Given the description of an element on the screen output the (x, y) to click on. 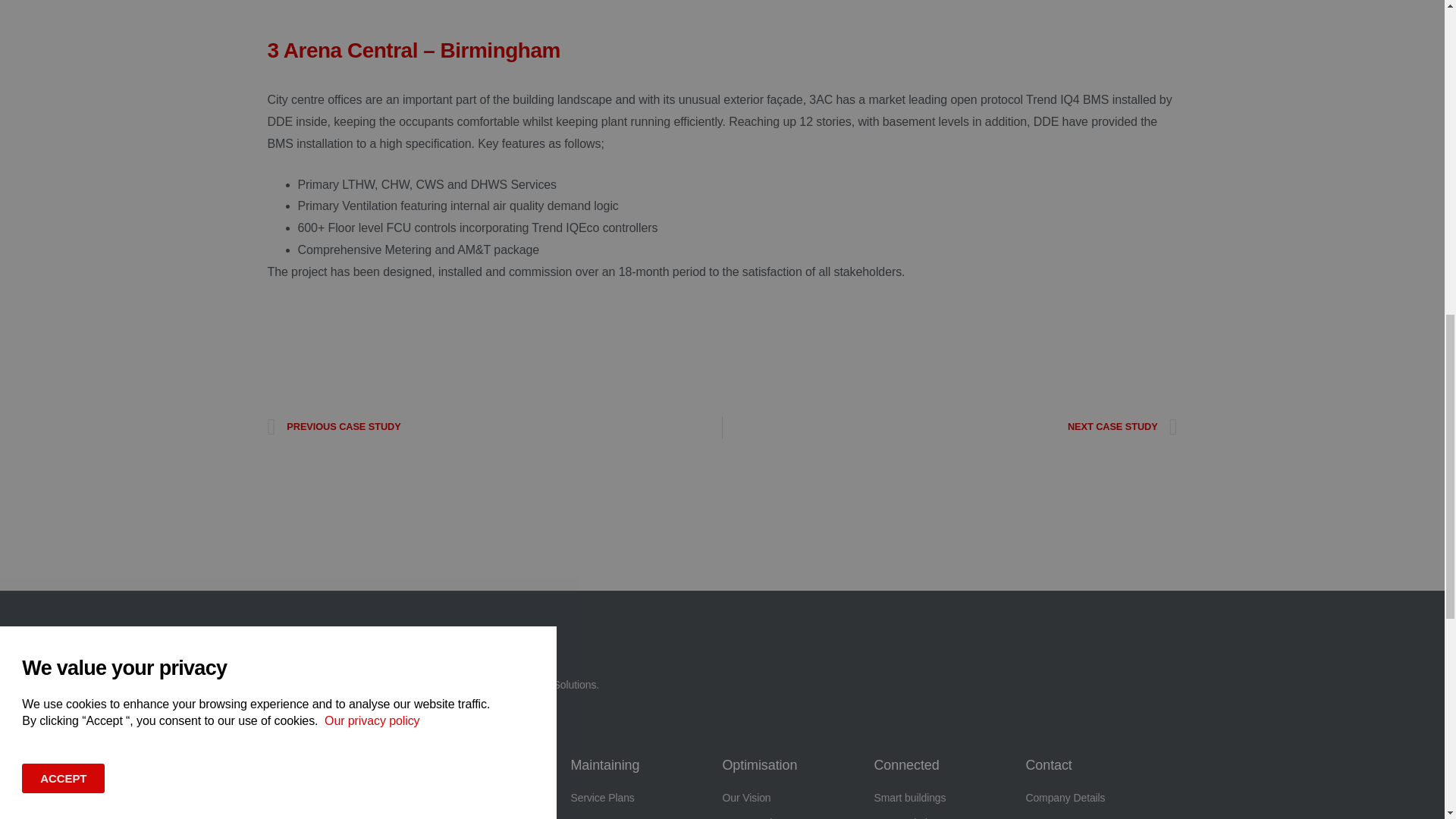
Connected (906, 765)
Service Plans (646, 798)
Case studies (494, 815)
PREVIOUS CASE STUDY (494, 427)
Installations (454, 765)
Our Experience (797, 815)
Spare Parts (646, 815)
History of DDE (342, 798)
NEXT CASE STUDY (949, 427)
Smart buildings (949, 798)
